Given the description of an element on the screen output the (x, y) to click on. 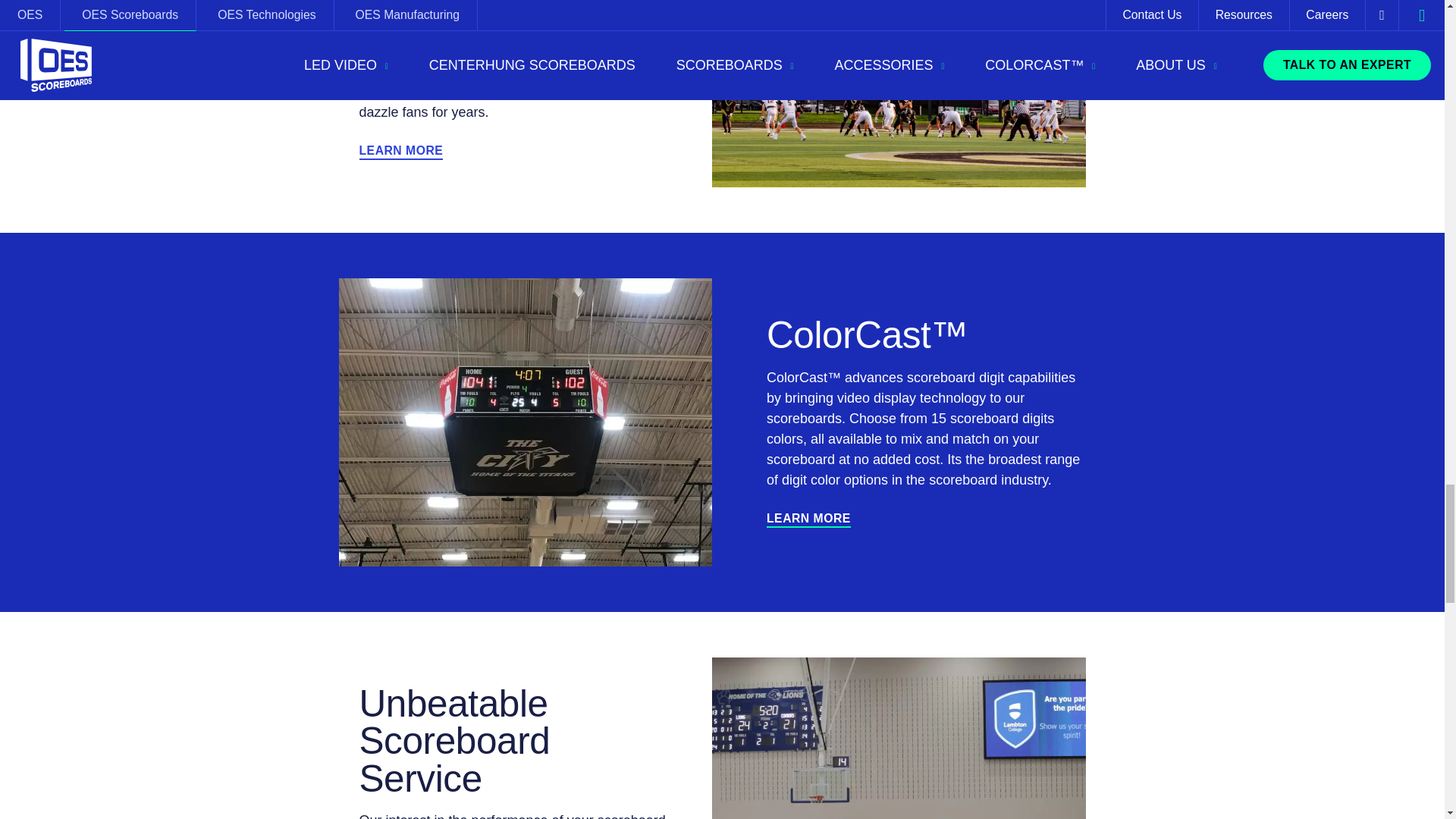
General Subpage (401, 151)
Learn More (808, 519)
